Given the description of an element on the screen output the (x, y) to click on. 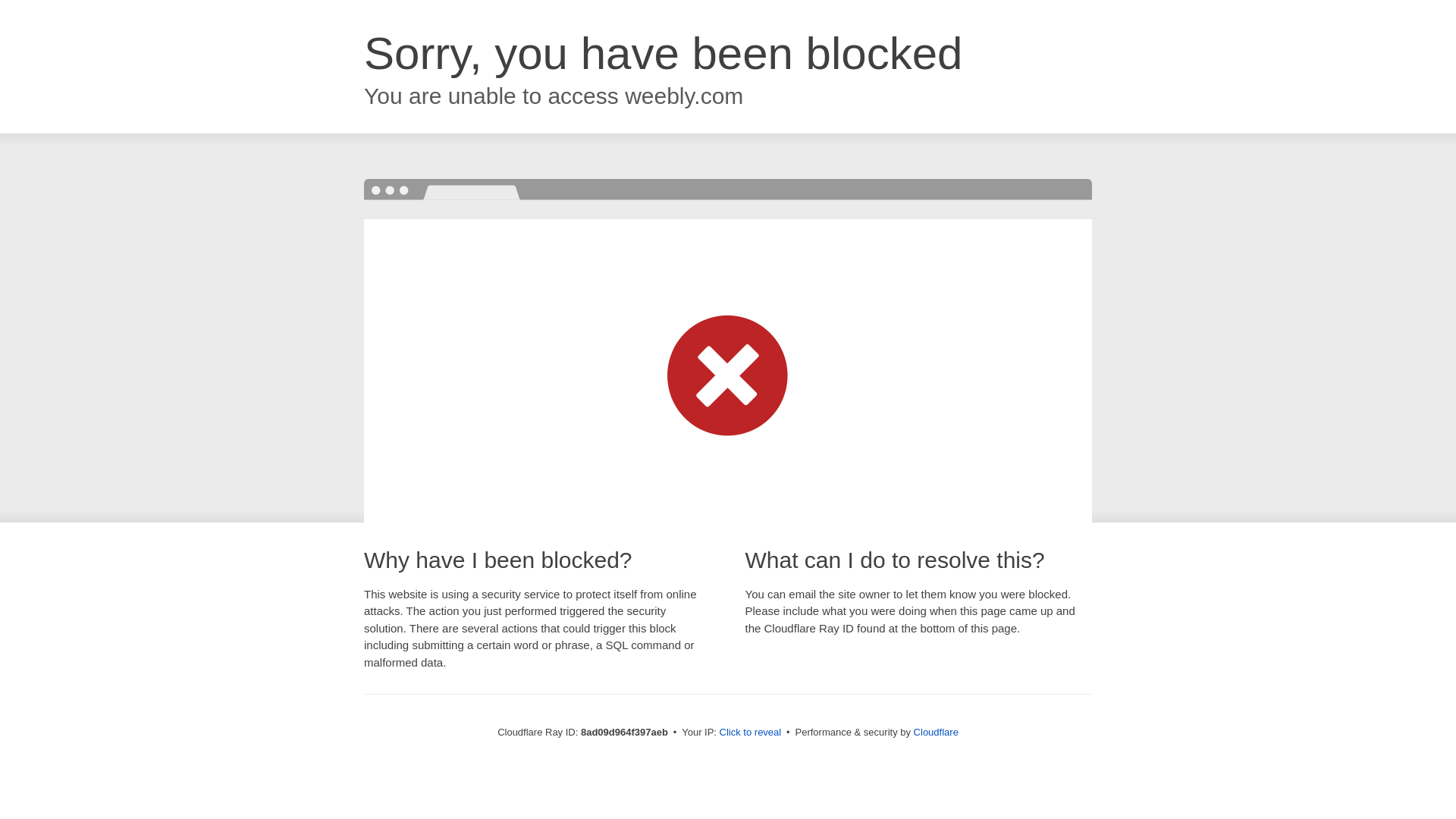
Click to reveal (750, 732)
Cloudflare (936, 731)
